Given the description of an element on the screen output the (x, y) to click on. 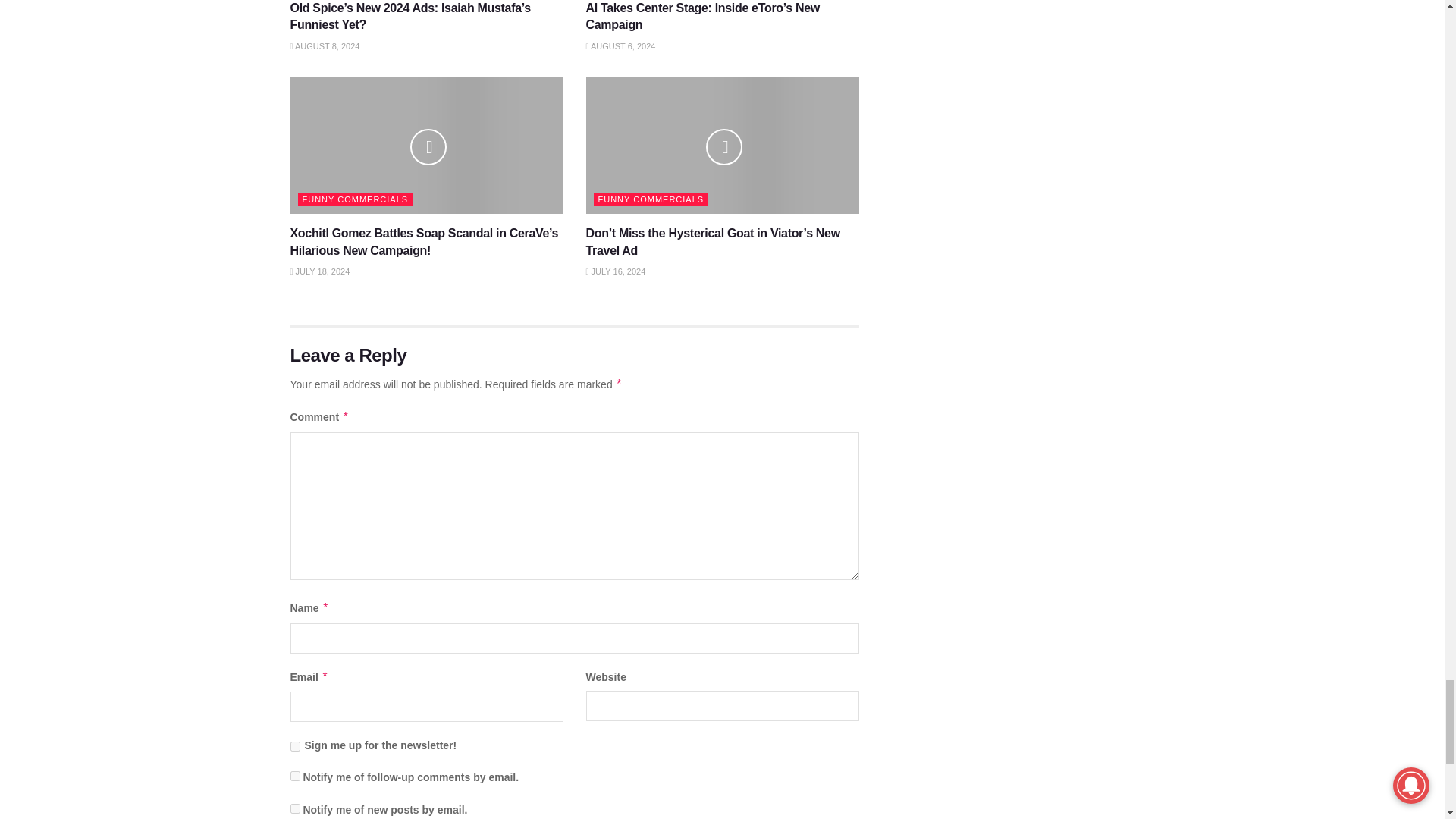
subscribe (294, 808)
1 (294, 746)
subscribe (294, 776)
